Given the description of an element on the screen output the (x, y) to click on. 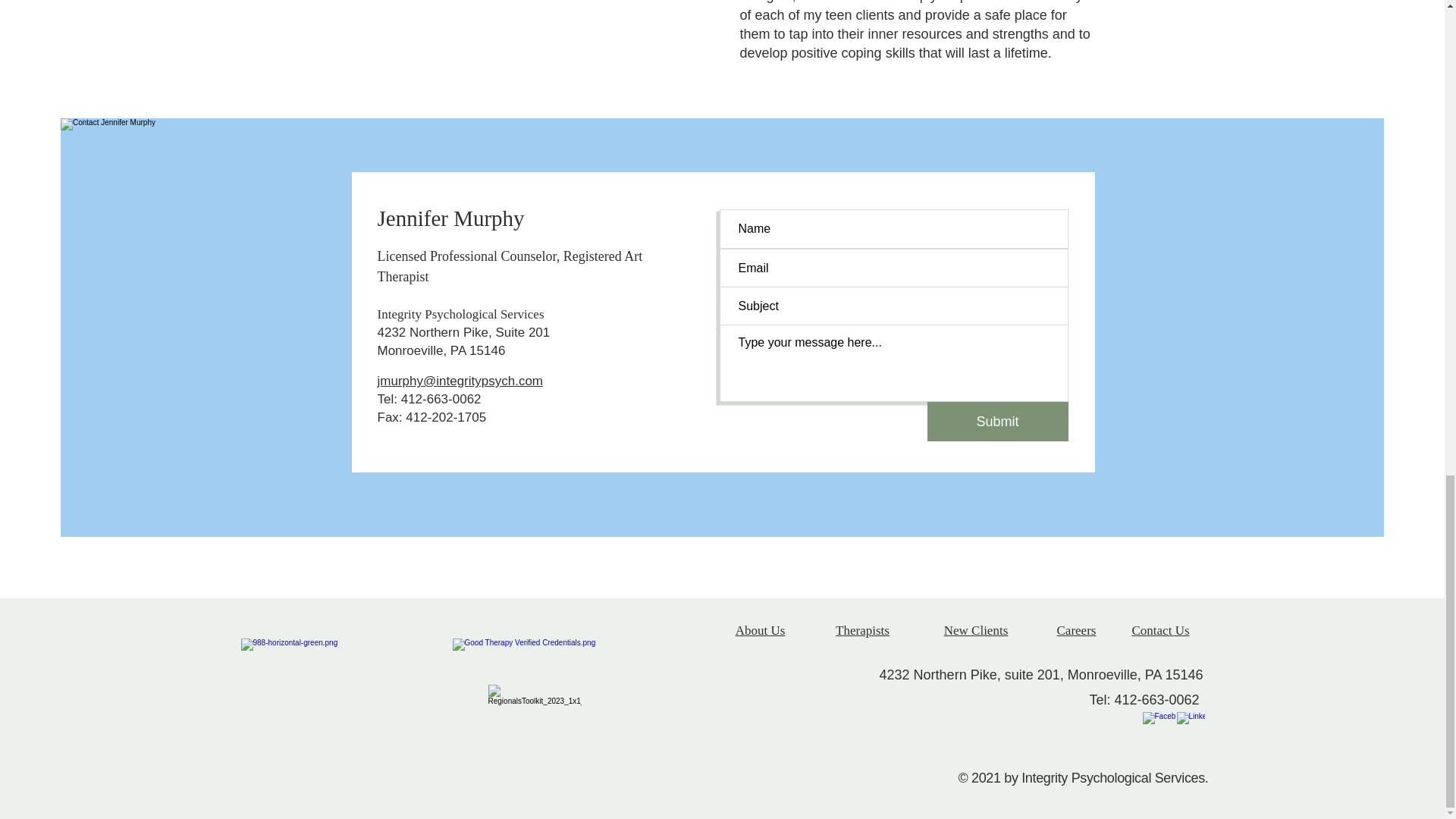
412-663-0062 (441, 399)
412-663-0062  (1157, 699)
Submit (996, 421)
New Clients (976, 630)
Therapists (862, 630)
Contact Us (1160, 630)
Careers (1076, 630)
About Us (760, 630)
